Given the description of an element on the screen output the (x, y) to click on. 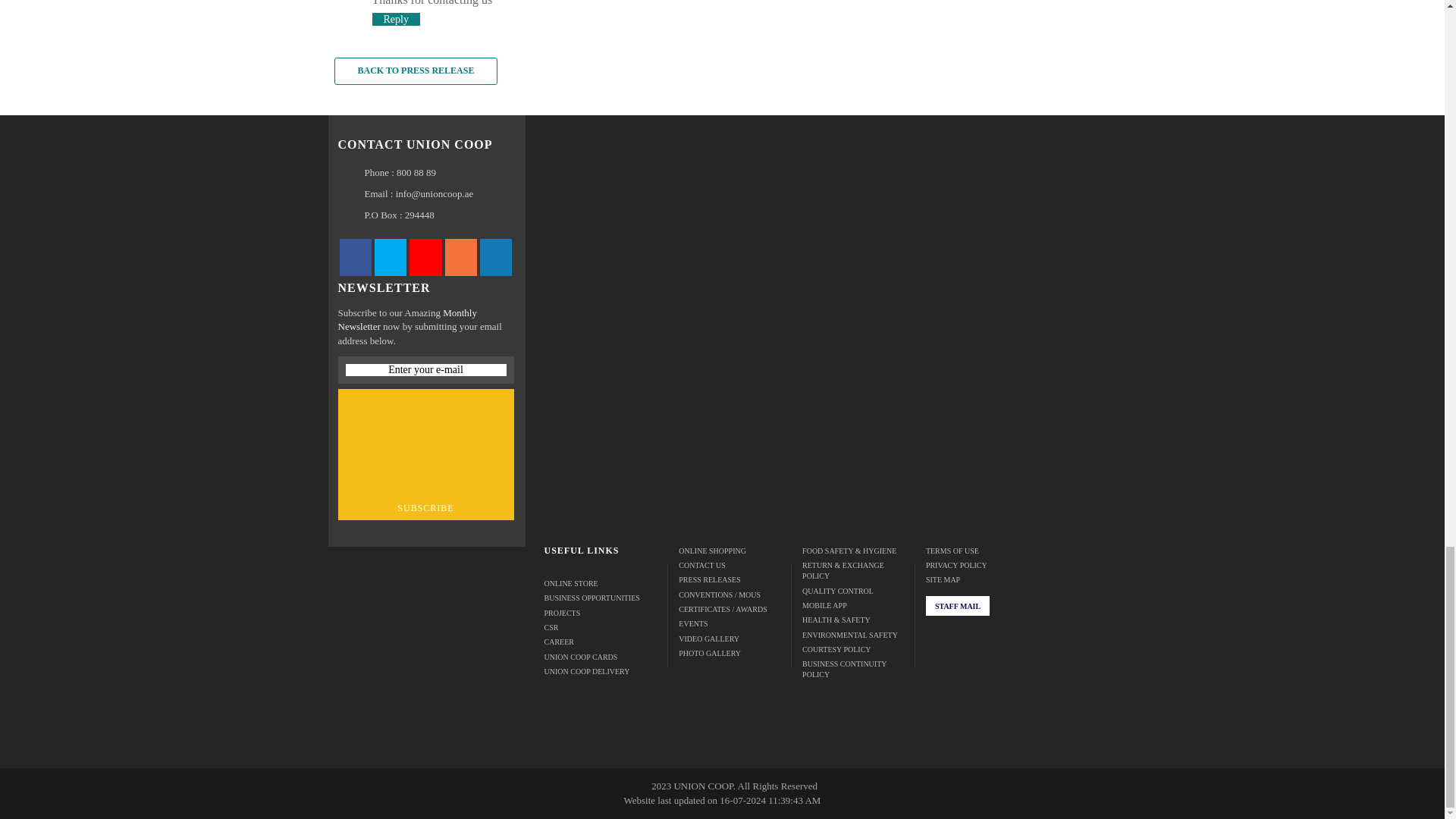
Online Store (600, 583)
